Given the description of an element on the screen output the (x, y) to click on. 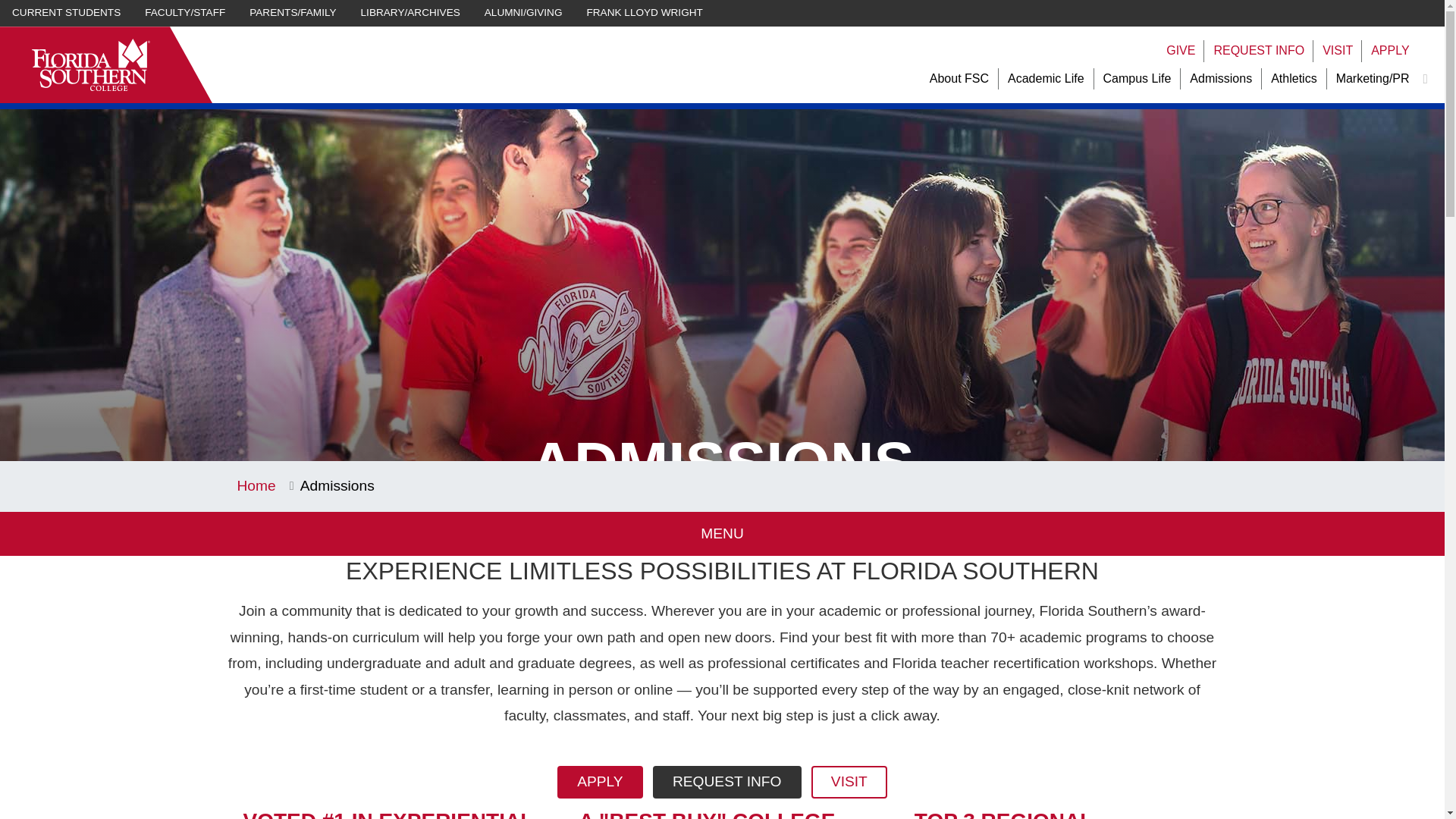
Admissions (1220, 78)
Campus Life (1137, 78)
VISIT (1337, 51)
About FSC (959, 78)
Athletics (1293, 78)
GIVE (1180, 51)
FRANK LLOYD WRIGHT (644, 13)
REQUEST INFO (1258, 51)
Academic Life (1045, 78)
CURRENT STUDENTS (65, 13)
APPLY (1390, 51)
